Given the description of an element on the screen output the (x, y) to click on. 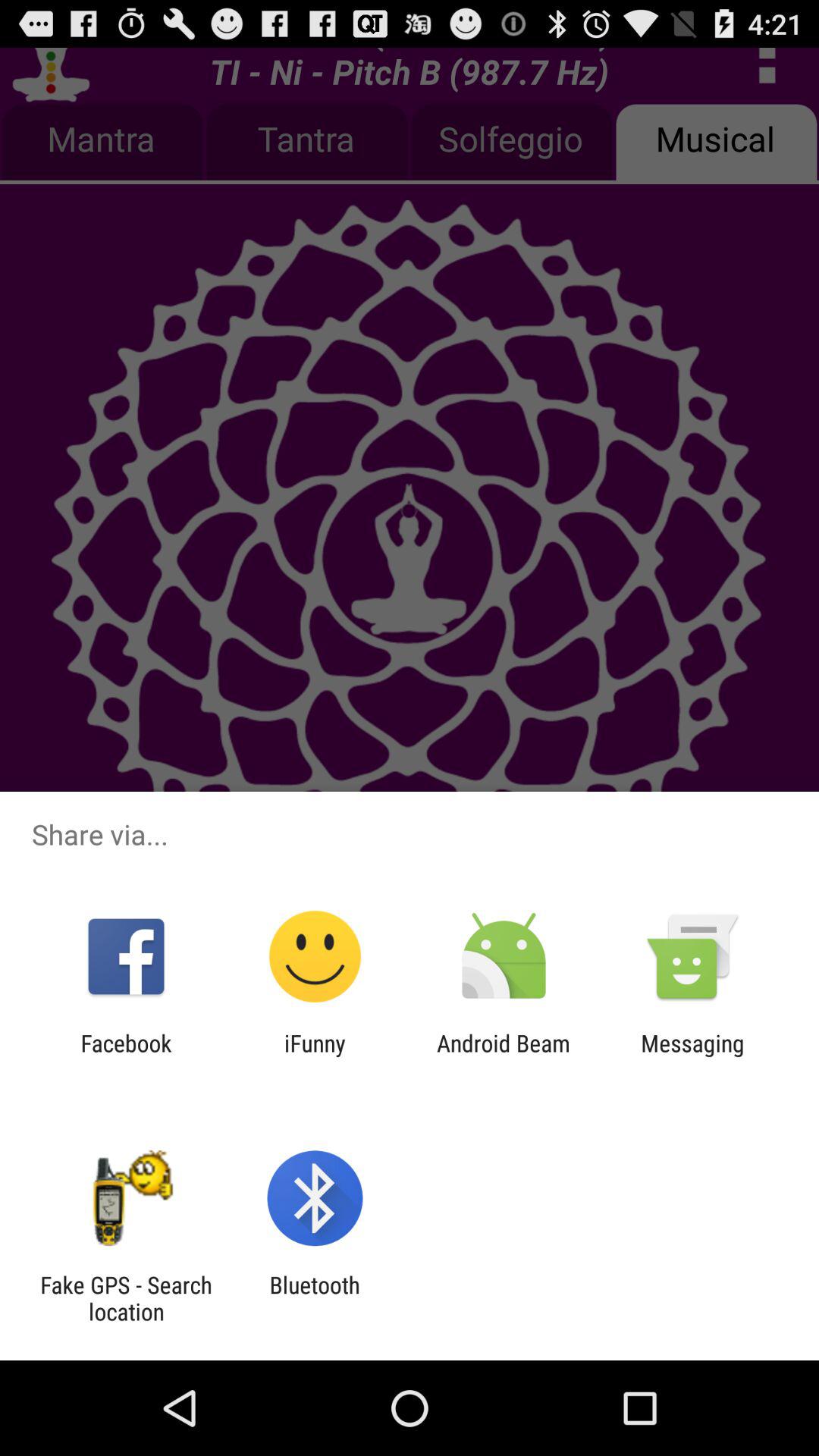
tap item next to fake gps search (314, 1298)
